Given the description of an element on the screen output the (x, y) to click on. 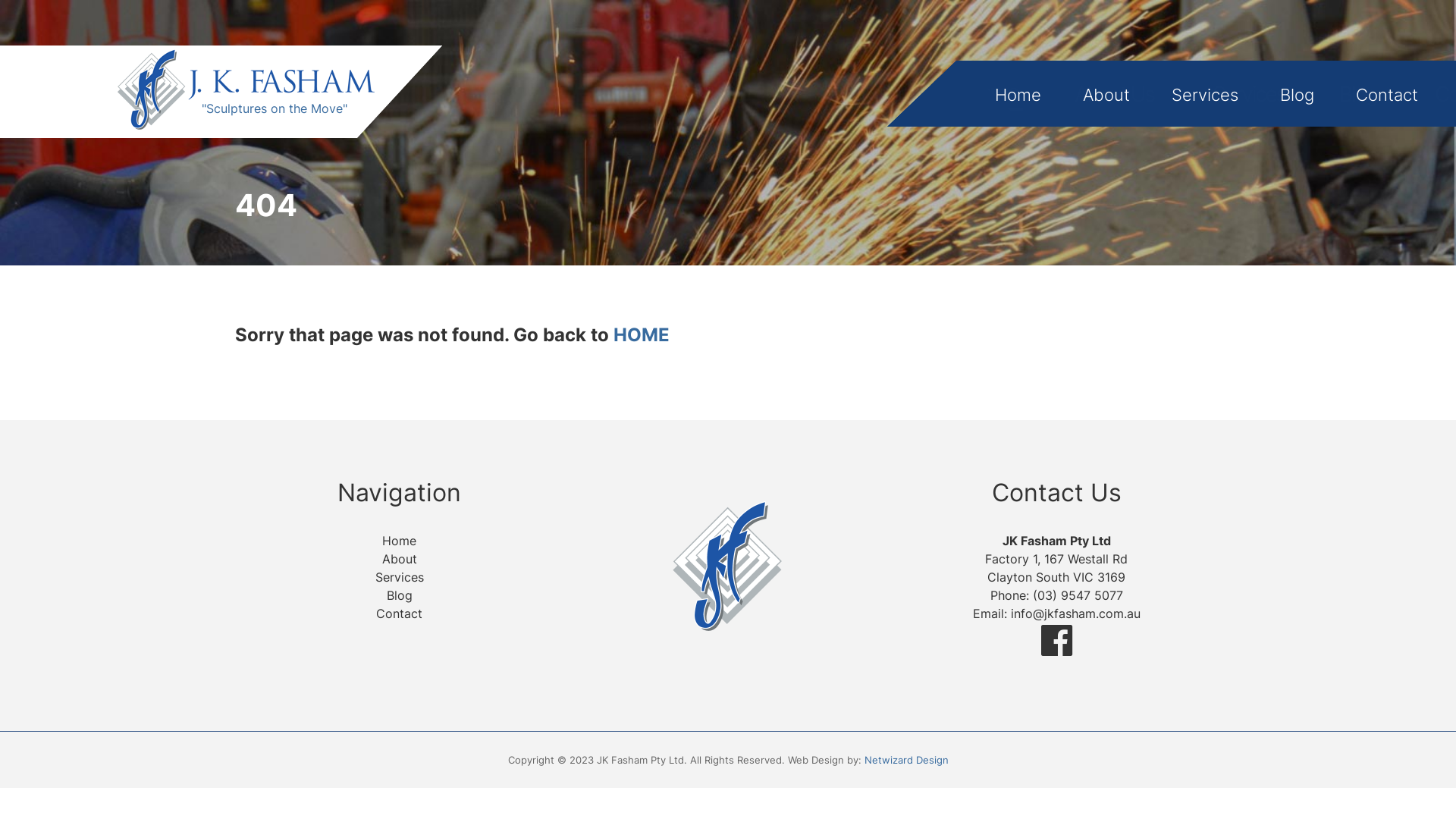
Services Element type: text (1204, 94)
HOME Element type: text (641, 334)
Home Element type: text (399, 540)
Contact Element type: text (399, 613)
Blog Element type: text (399, 594)
Services Element type: text (399, 576)
Blog Element type: text (1297, 94)
About Element type: text (1105, 94)
Contact Element type: text (1386, 94)
Home Element type: text (1017, 94)
About Element type: text (399, 558)
Netwizard Design Element type: text (906, 759)
